Given the description of an element on the screen output the (x, y) to click on. 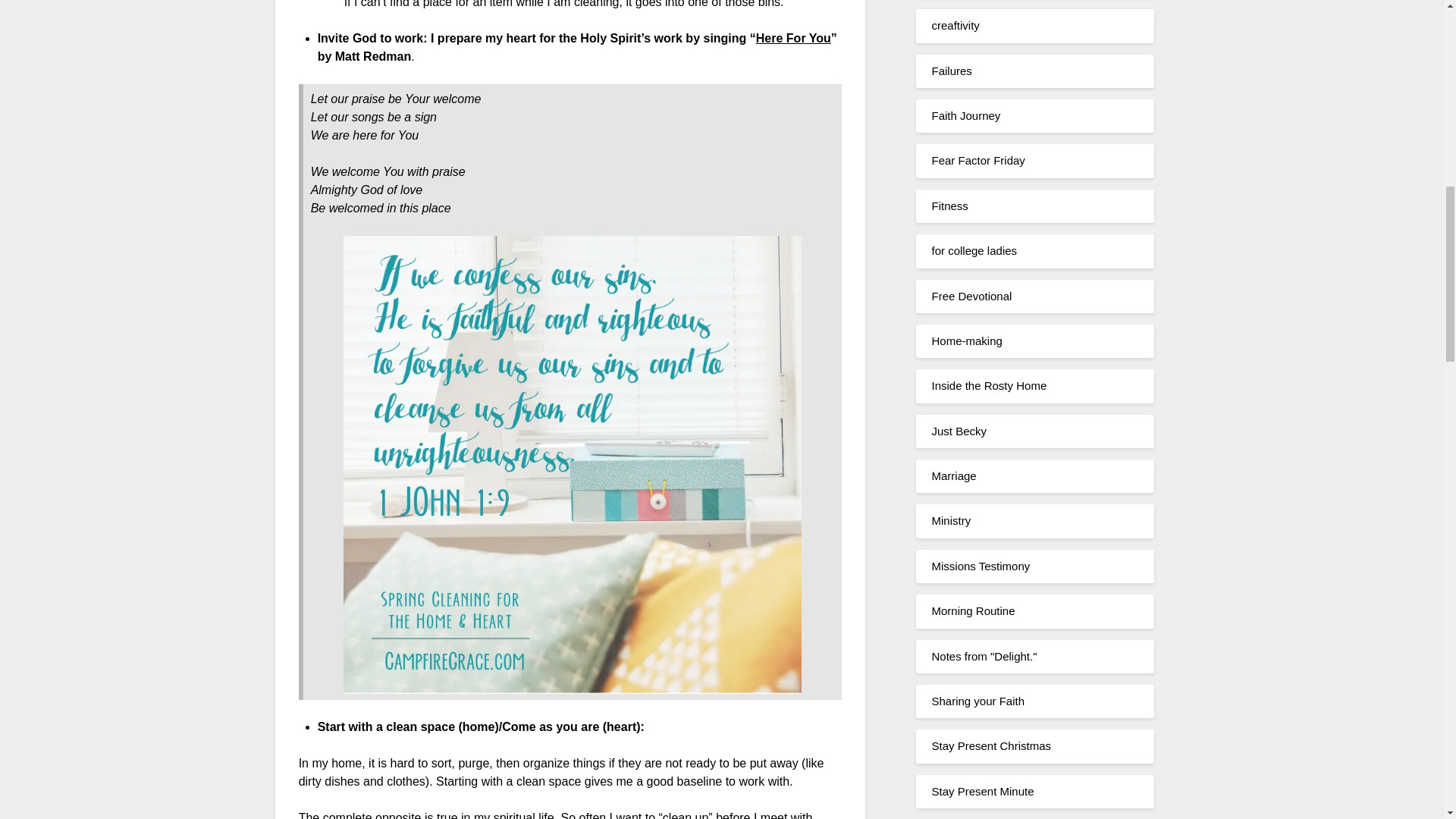
Here For You (793, 38)
Fear Factor Friday (978, 160)
creaftivity (954, 24)
Failures (951, 70)
Faith Journey (965, 115)
